Given the description of an element on the screen output the (x, y) to click on. 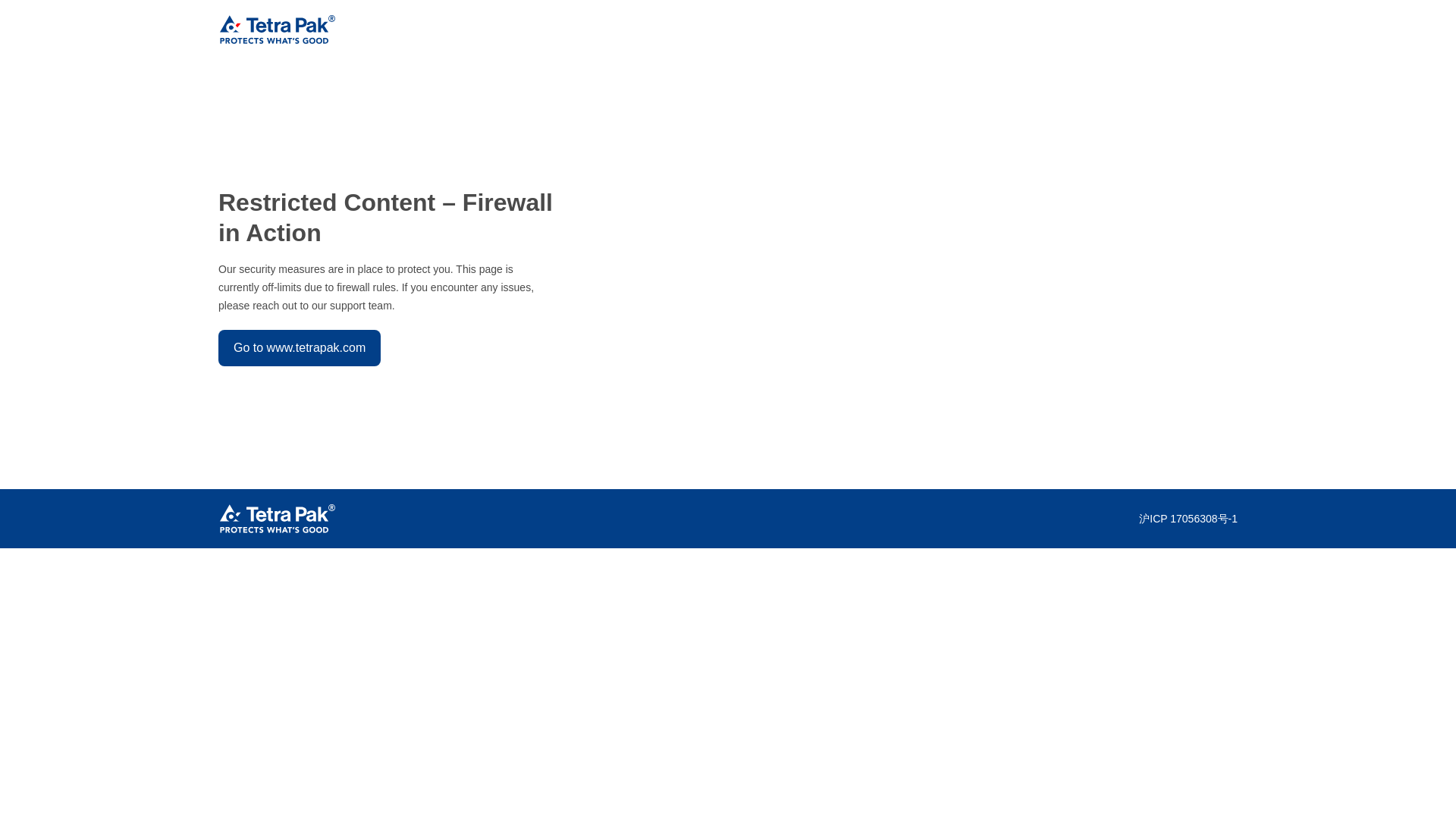
Go to www.tetrapak.com (299, 348)
